Given the description of an element on the screen output the (x, y) to click on. 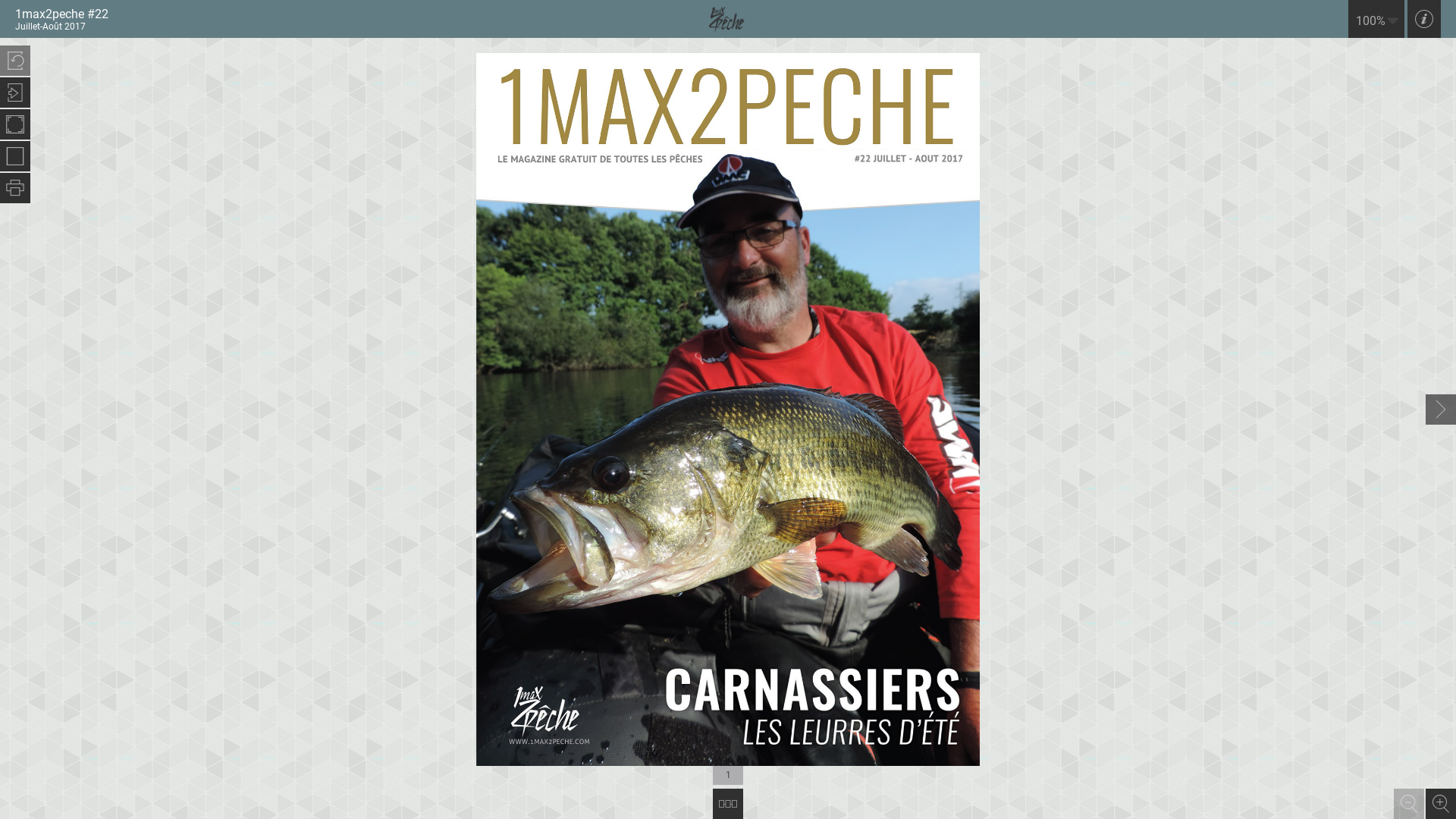
Choix d'impression Element type: hover (15, 187)
1max2peche Element type: hover (727, 18)
Une page / deux pages Element type: hover (15, 156)
Aide Element type: hover (1423, 18)
